Given the description of an element on the screen output the (x, y) to click on. 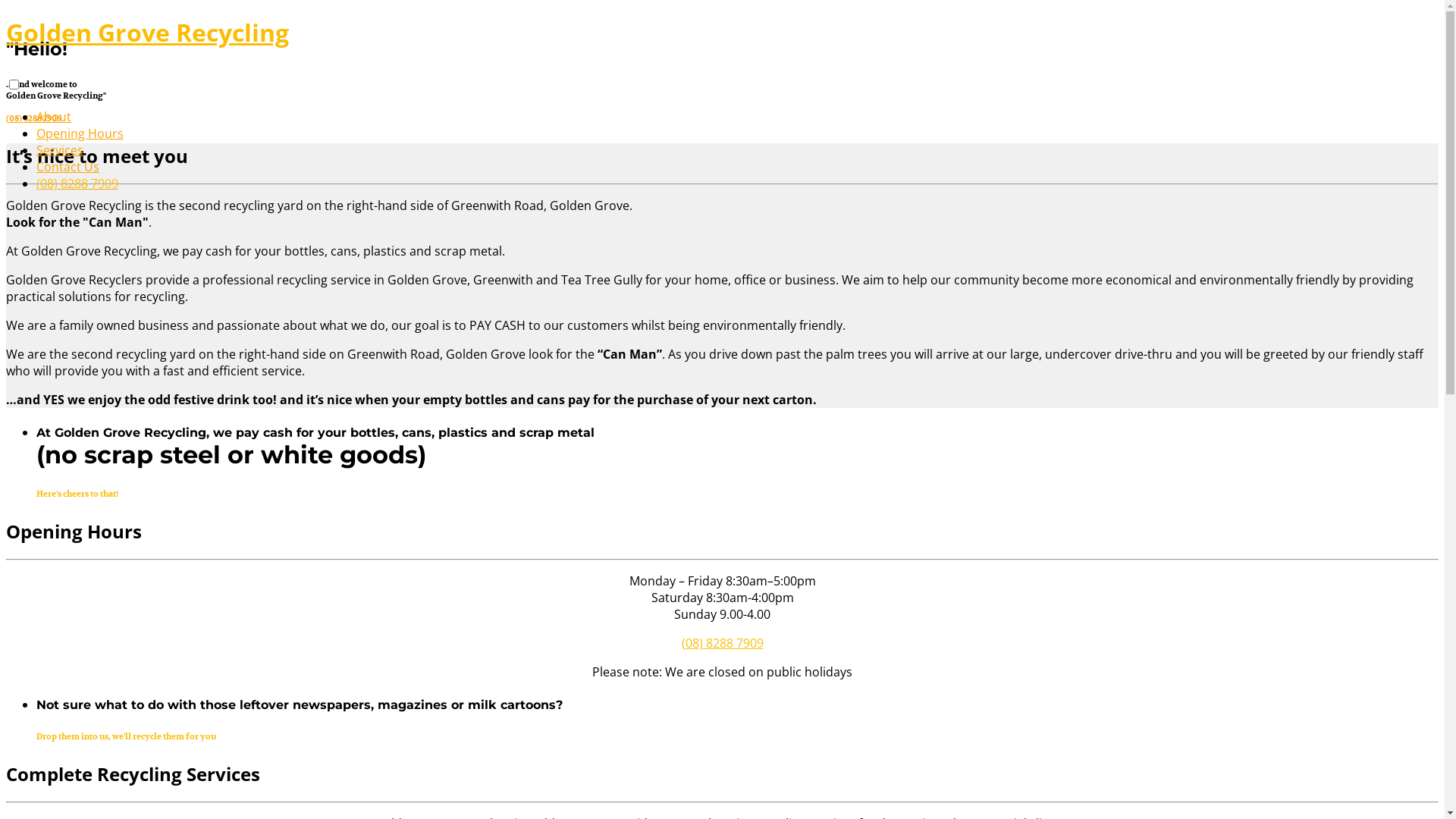
Services Element type: text (59, 149)
Contact Us Element type: text (67, 166)
(08) 8288 7909 Element type: text (33, 118)
(08) 8288 7909 Element type: text (721, 642)
About Element type: text (53, 116)
(08) 8288 7909 Element type: text (77, 183)
Opening Hours Element type: text (79, 133)
Golden Grove Recycling Element type: text (147, 31)
